Given the description of an element on the screen output the (x, y) to click on. 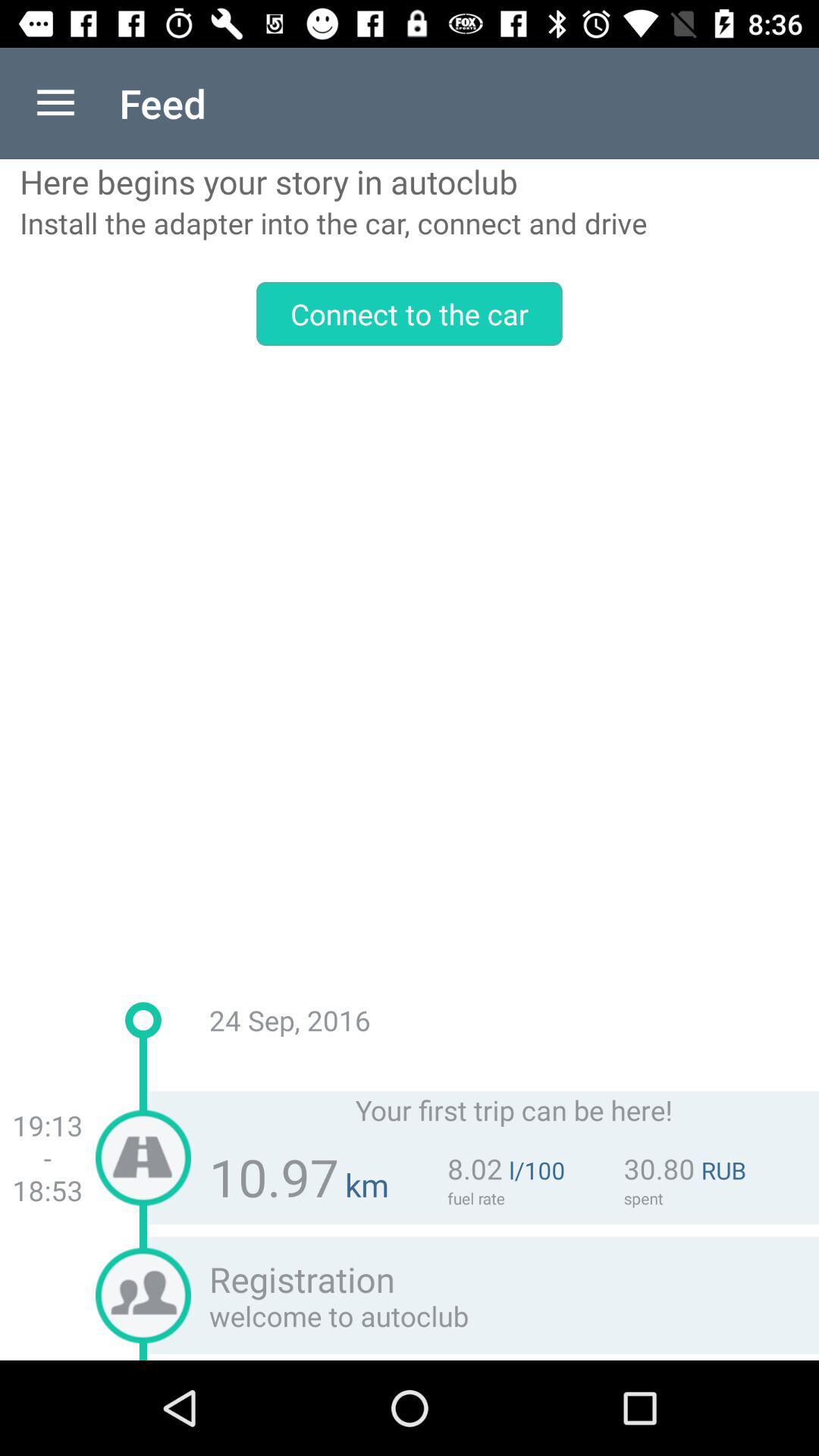
launch the icon to the left of feed app (55, 103)
